Given the description of an element on the screen output the (x, y) to click on. 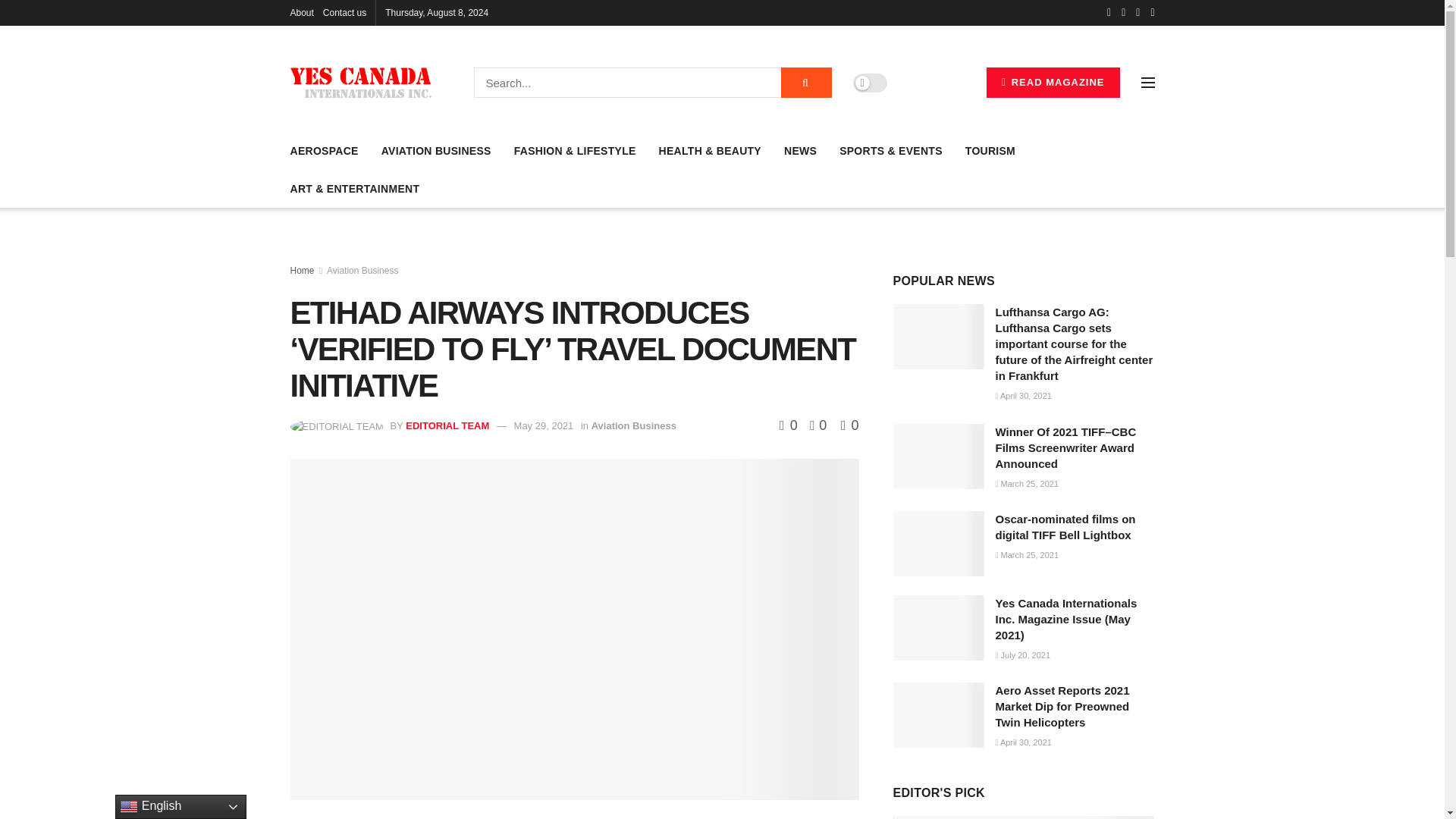
Contact us (344, 12)
NEWS (800, 150)
About (301, 12)
TOURISM (989, 150)
AVIATION BUSINESS (436, 150)
AEROSPACE (323, 150)
READ MAGAZINE (1053, 82)
